Given the description of an element on the screen output the (x, y) to click on. 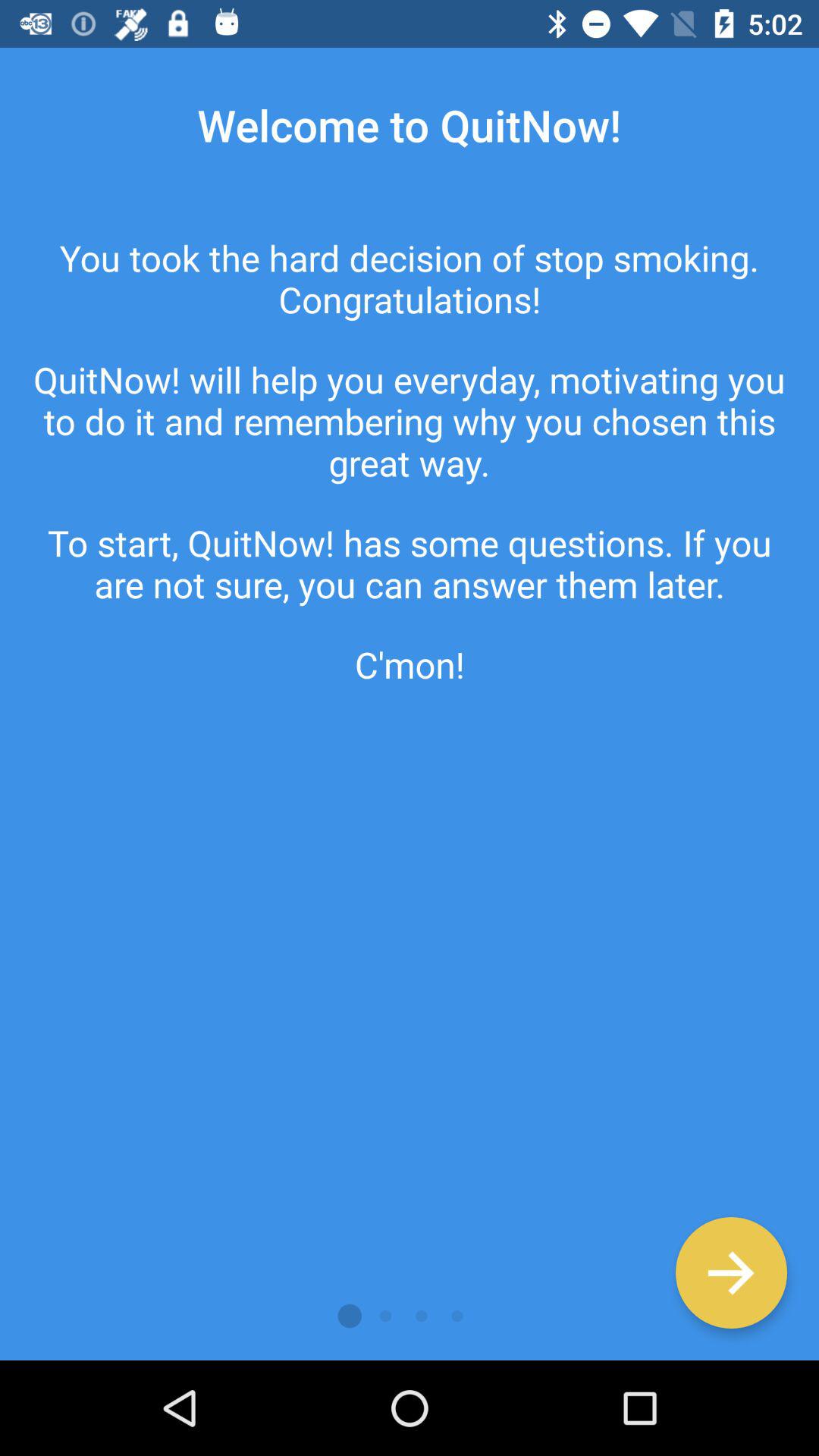
go back button (731, 1272)
